Given the description of an element on the screen output the (x, y) to click on. 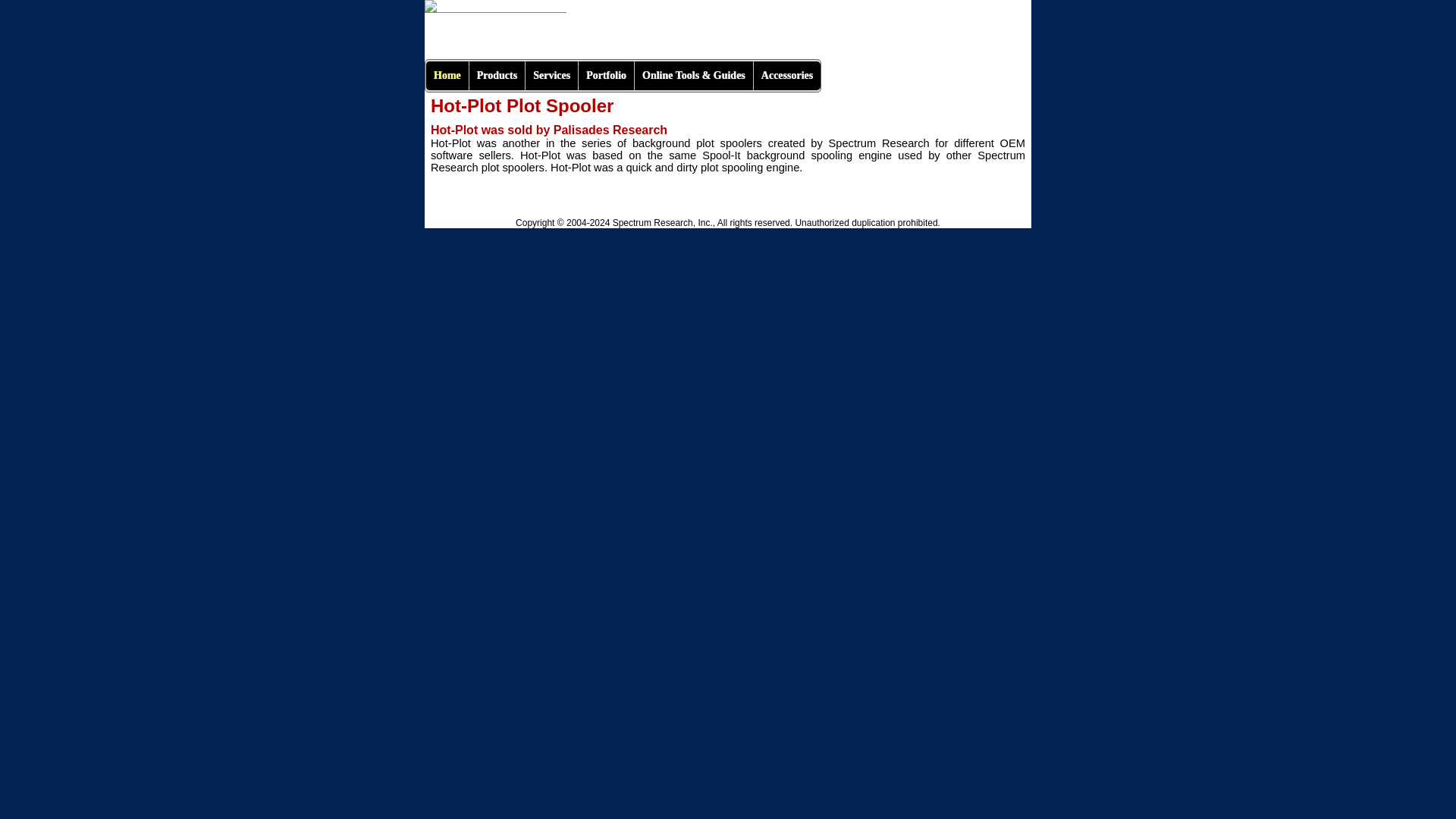
Home (446, 75)
Products (496, 75)
Portfolio (605, 75)
Services (551, 75)
